Given the description of an element on the screen output the (x, y) to click on. 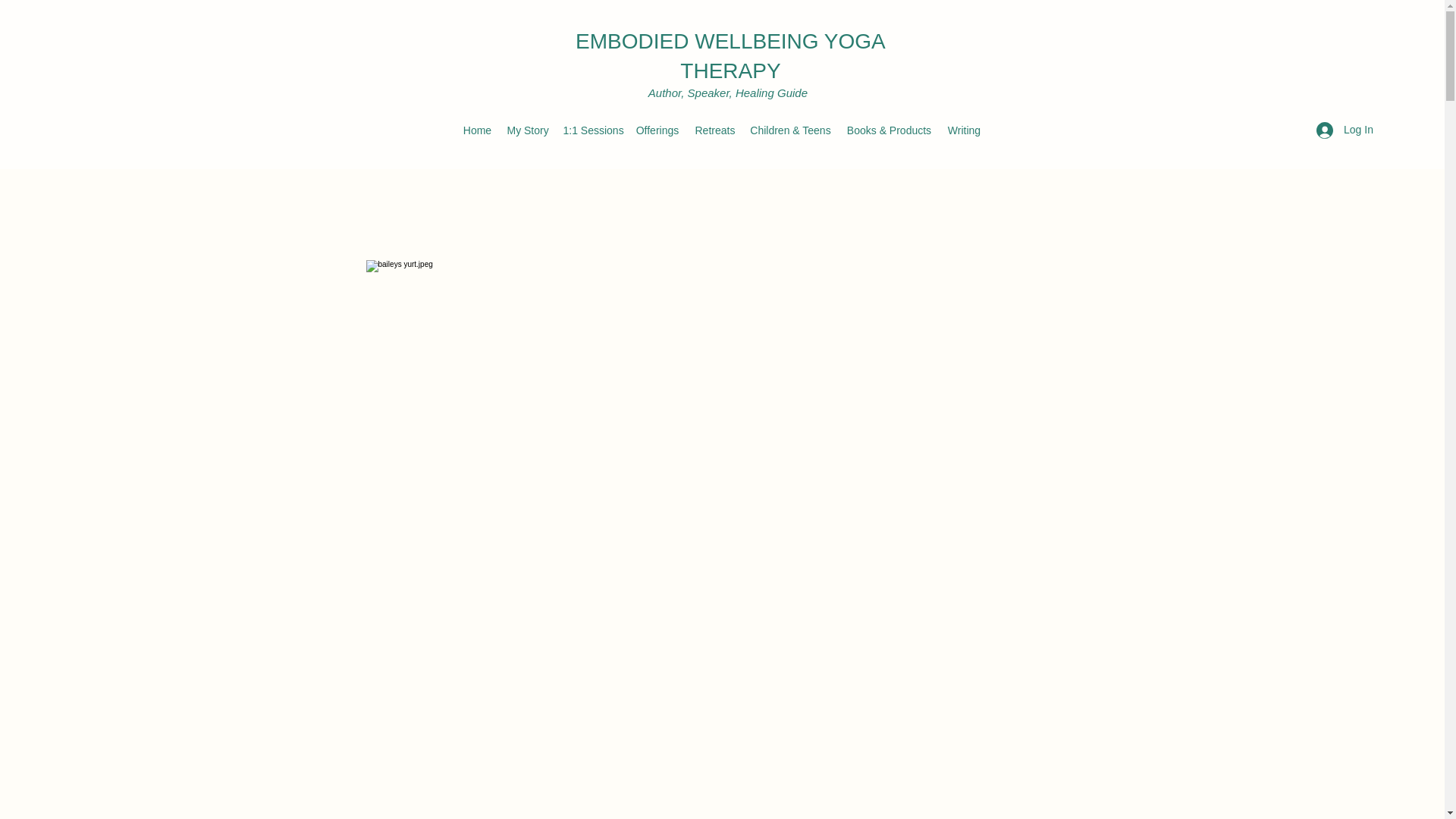
Writing (963, 129)
Home (476, 129)
My Story (526, 129)
Retreats (714, 129)
Log In (1345, 130)
Offerings (657, 129)
1:1 Sessions (590, 129)
